Given the description of an element on the screen output the (x, y) to click on. 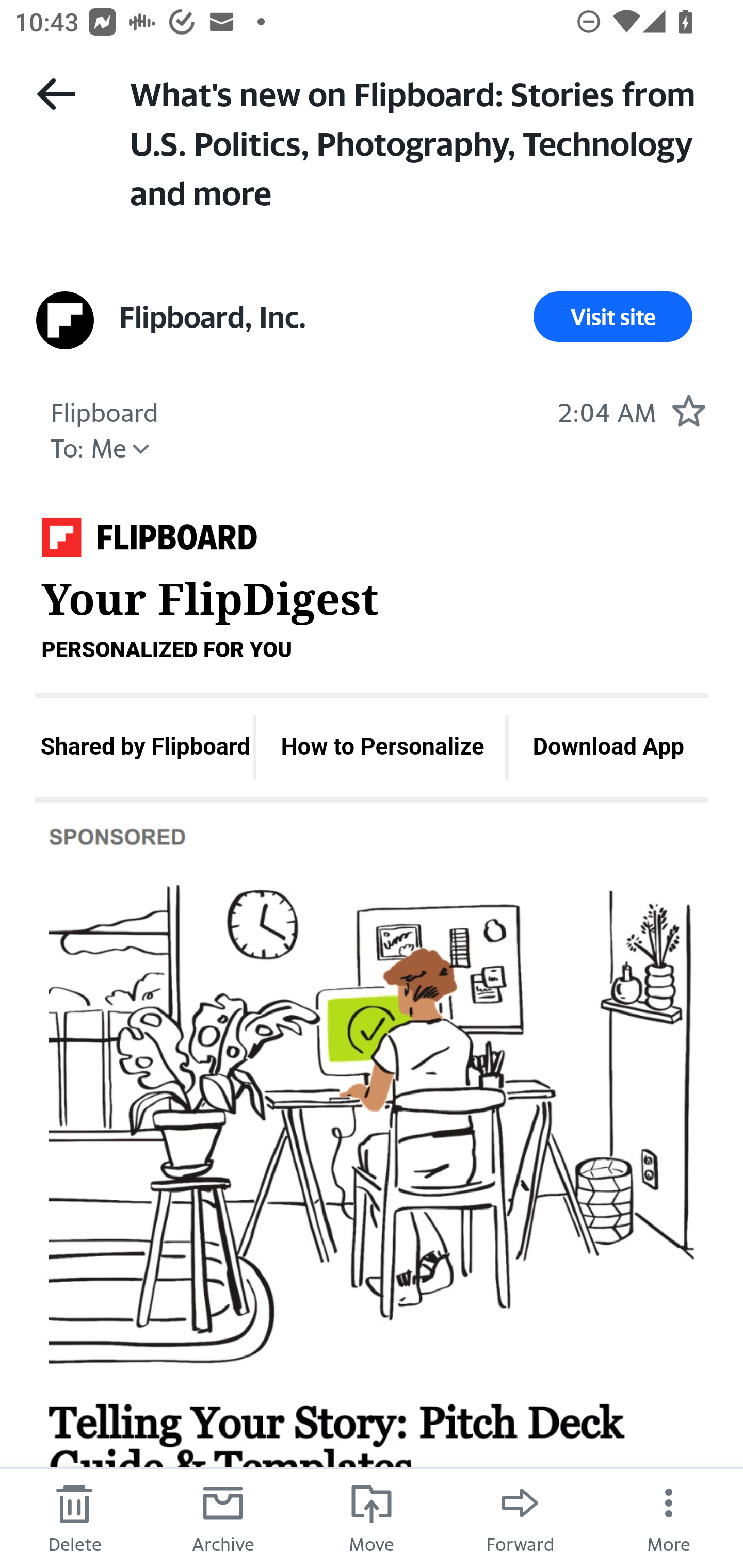
Back (55, 93)
View all messages from sender (64, 320)
Visit site Visit Site Link (612, 316)
Flipboard, Inc. Sender Flipboard, Inc. (212, 316)
Flipboard Sender Flipboard (104, 410)
Mark as starred. (688, 410)
Your FlipDigest (149, 542)
Shared by Flipboard (144, 747)
How to Personalize (381, 747)
Download App (608, 747)
Delete (74, 1517)
Archive (222, 1517)
Move (371, 1517)
Forward (519, 1517)
More (668, 1517)
